Given the description of an element on the screen output the (x, y) to click on. 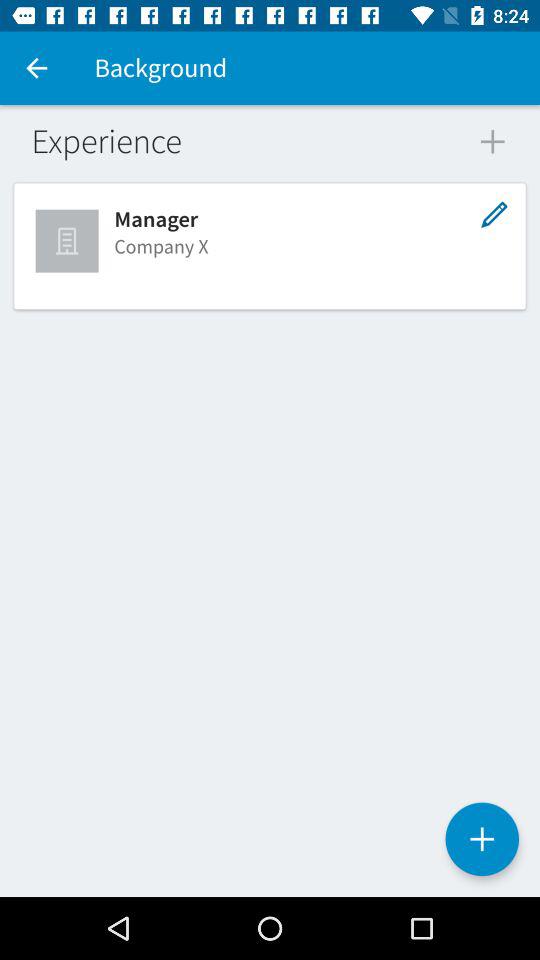
launch icon next to the manager (69, 240)
